Given the description of an element on the screen output the (x, y) to click on. 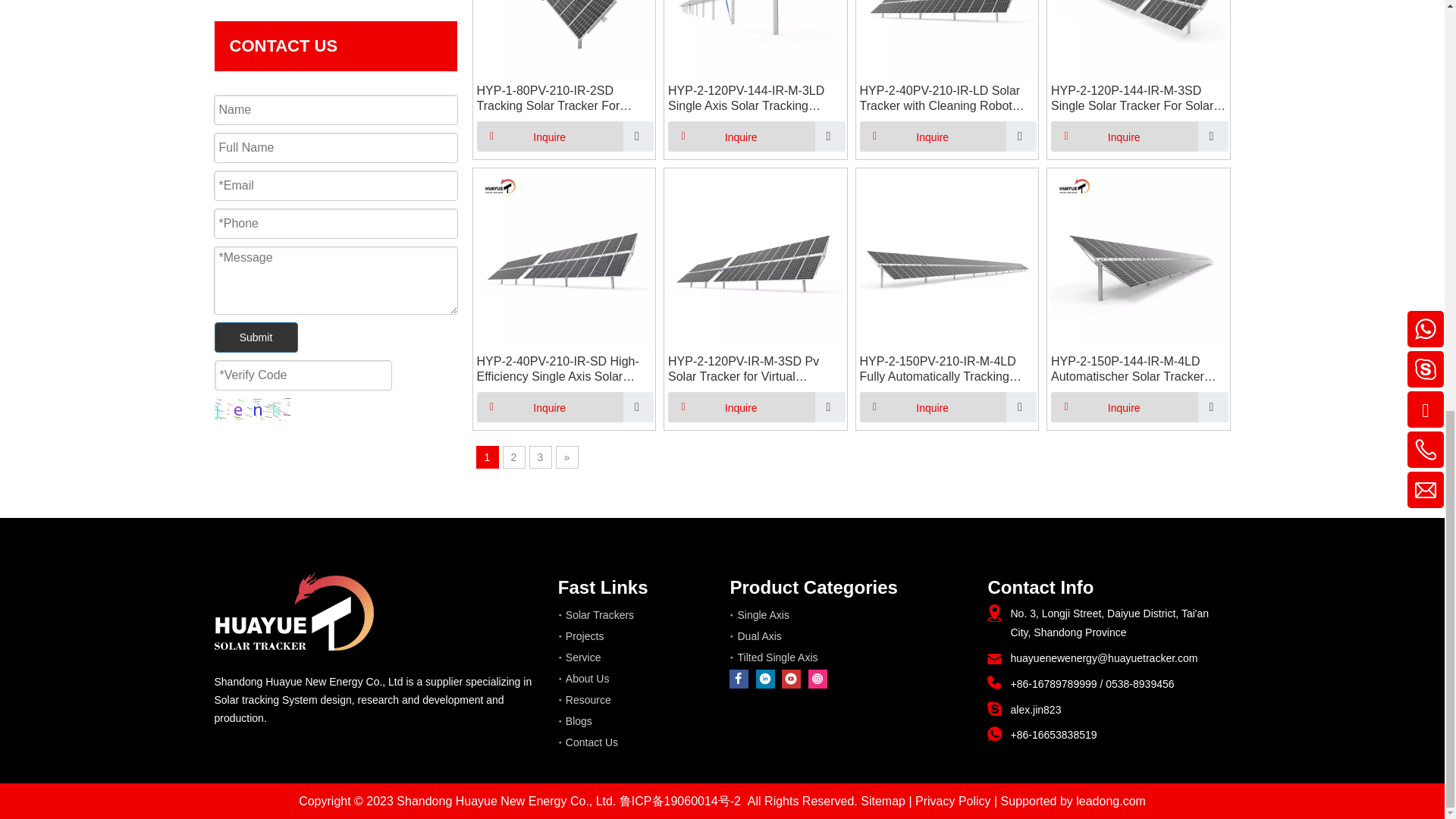
HYP-2-120PV-144-IR-M-3LD Single Axis Solar Tracking System (755, 98)
HYP-2-120P-144-IR-M-3SD Single Solar Tracker For Solar Farm (1138, 98)
